Given the description of an element on the screen output the (x, y) to click on. 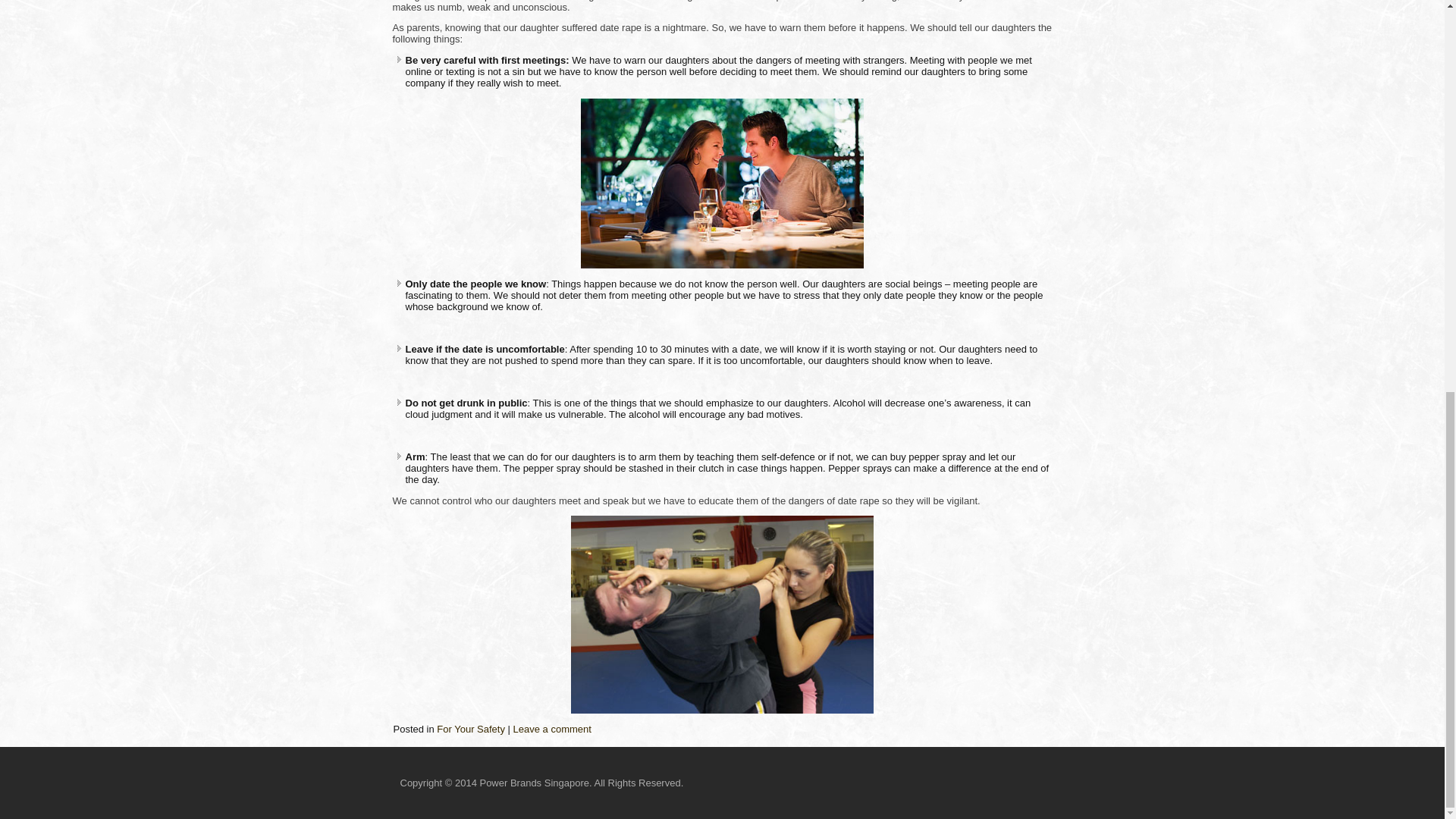
Leave a comment (552, 728)
For Your Safety (470, 728)
